Given the description of an element on the screen output the (x, y) to click on. 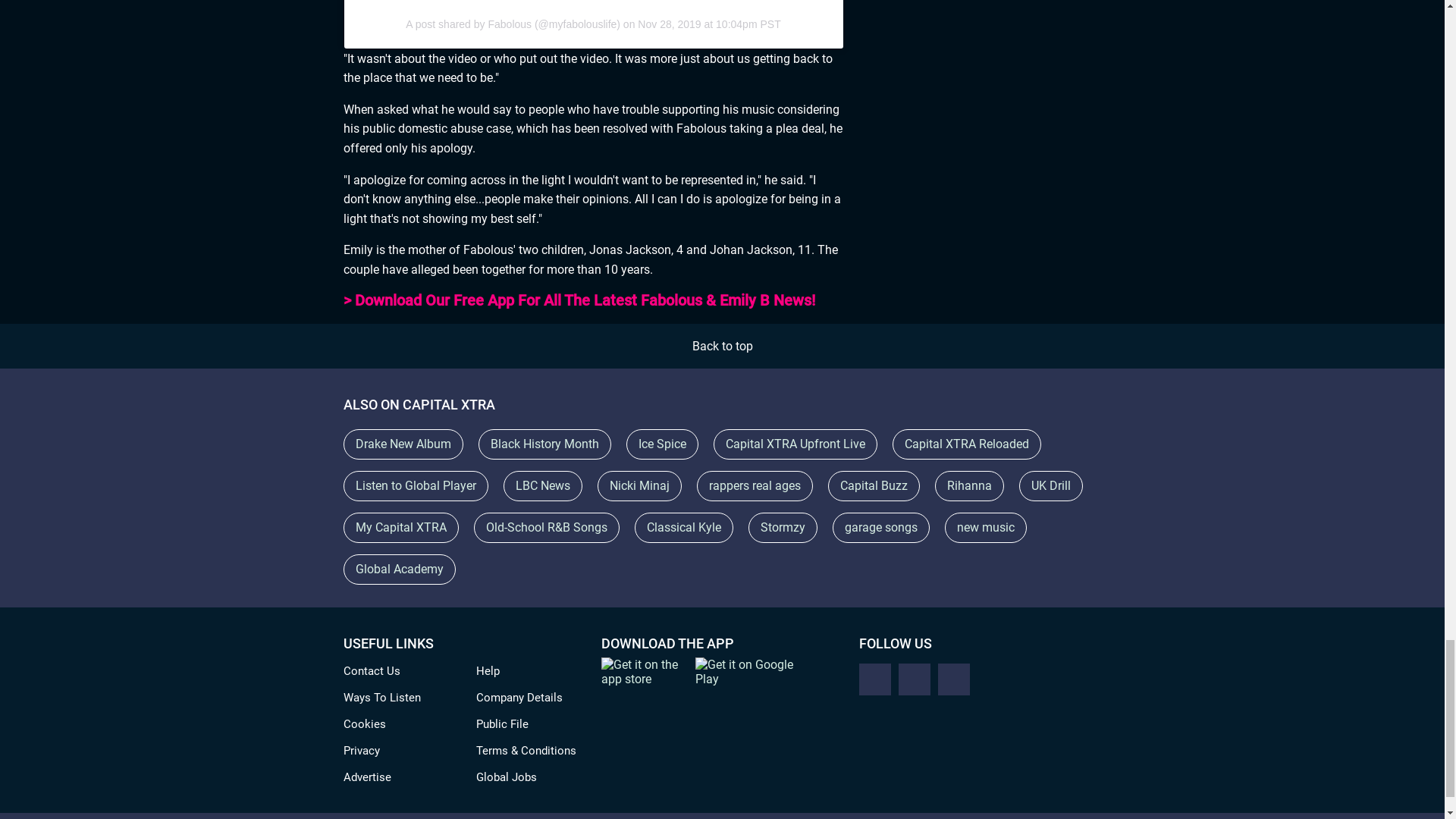
Follow CapitalXtra on Facebook (874, 679)
Follow CapitalXtra on Youtube (953, 679)
Follow CapitalXtra on Instagram (914, 679)
Back to top (721, 345)
